Given the description of an element on the screen output the (x, y) to click on. 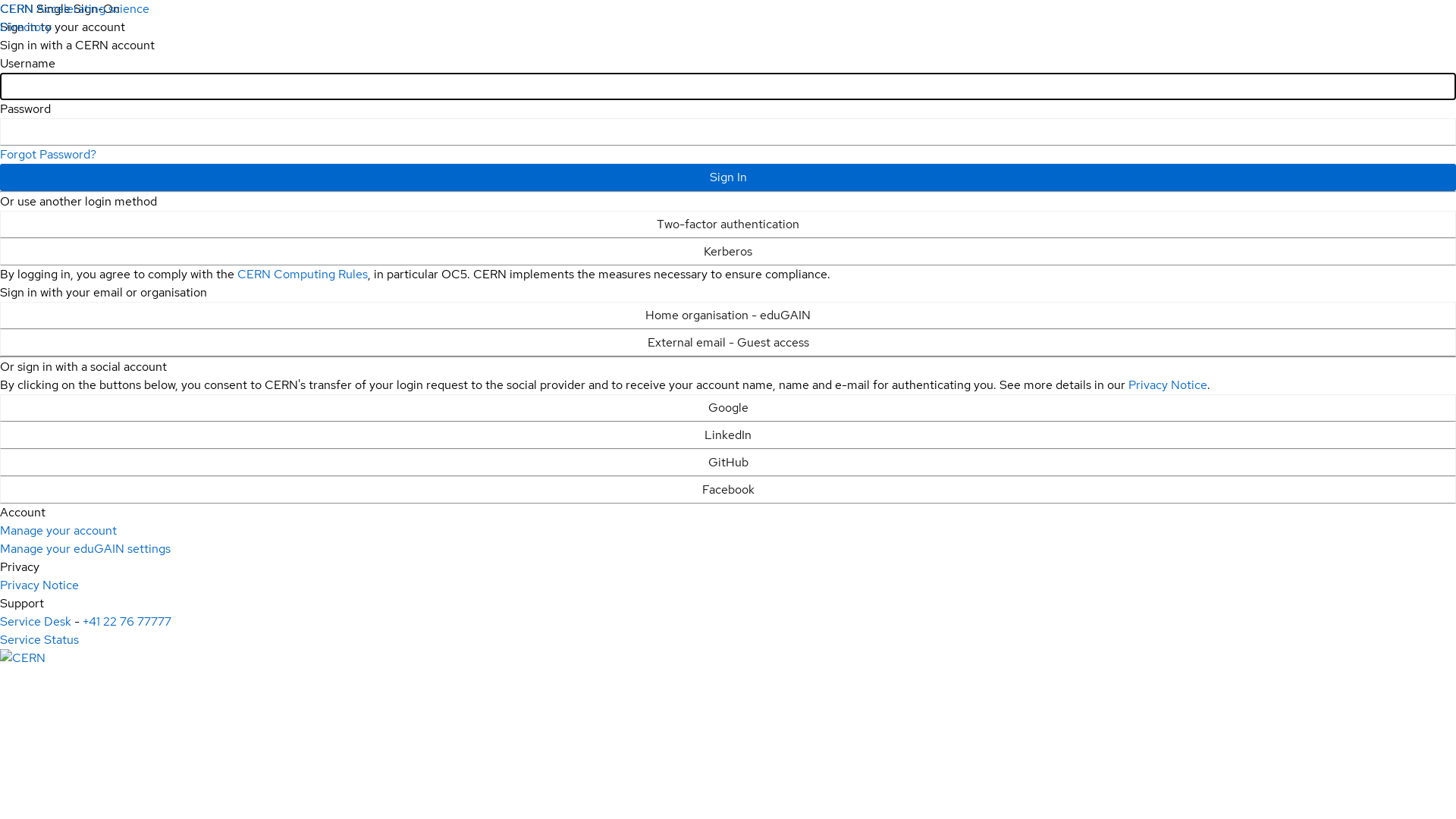
Manage your account Element type: text (58, 530)
Service Status Element type: text (39, 639)
CERN Computing Rules Element type: text (302, 274)
Privacy Notice Element type: text (1167, 384)
CERN Accelerating science Element type: text (74, 8)
Forgot Password? Element type: text (48, 154)
Service Desk Element type: text (35, 621)
Manage your eduGAIN settings Element type: text (85, 548)
Privacy Notice Element type: text (39, 585)
CERN Element type: hover (22, 657)
Directory Element type: text (25, 26)
+41 22 76 77777 Element type: text (126, 621)
